Given the description of an element on the screen output the (x, y) to click on. 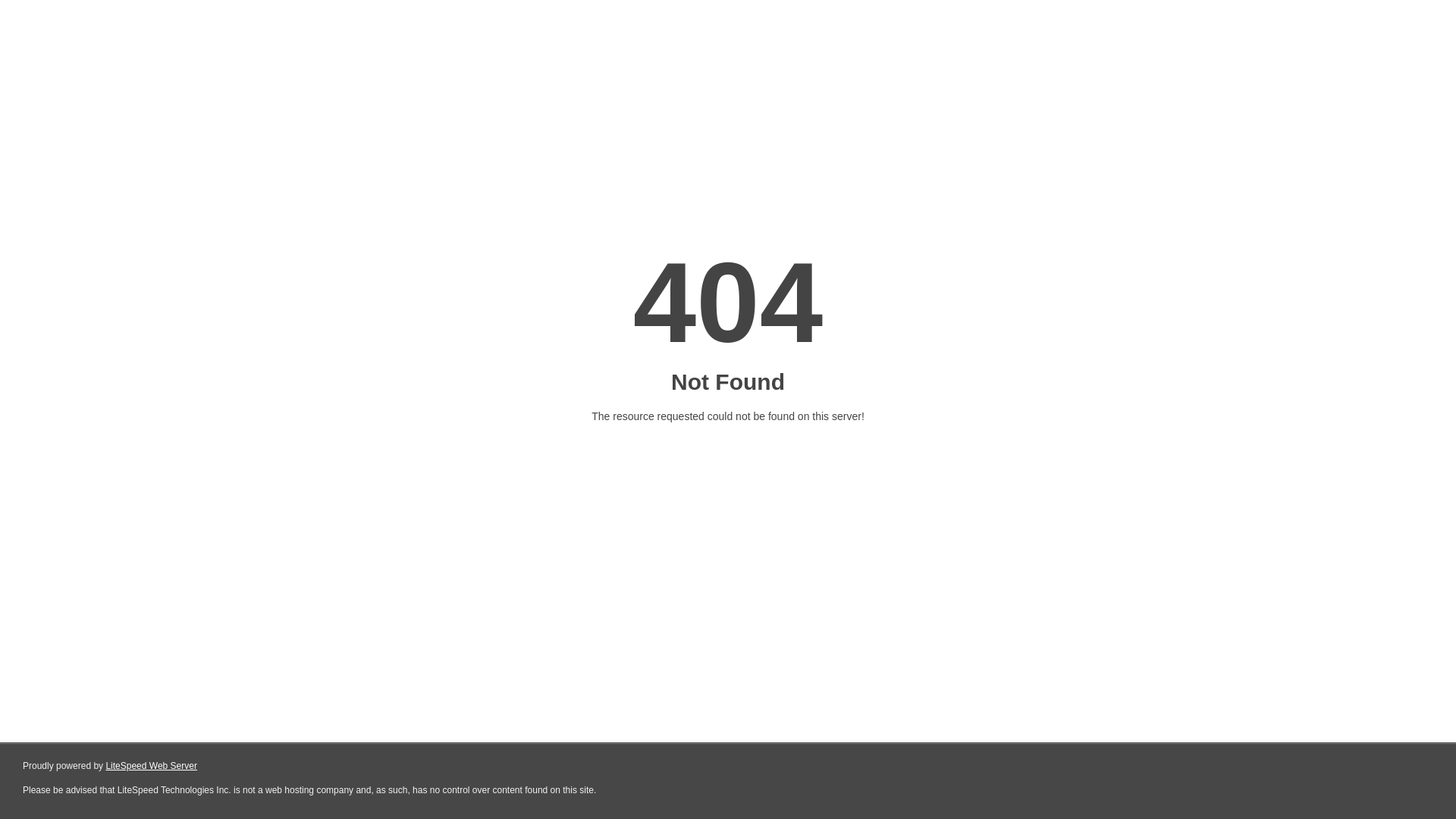
LiteSpeed Web Server Element type: text (151, 765)
